Given the description of an element on the screen output the (x, y) to click on. 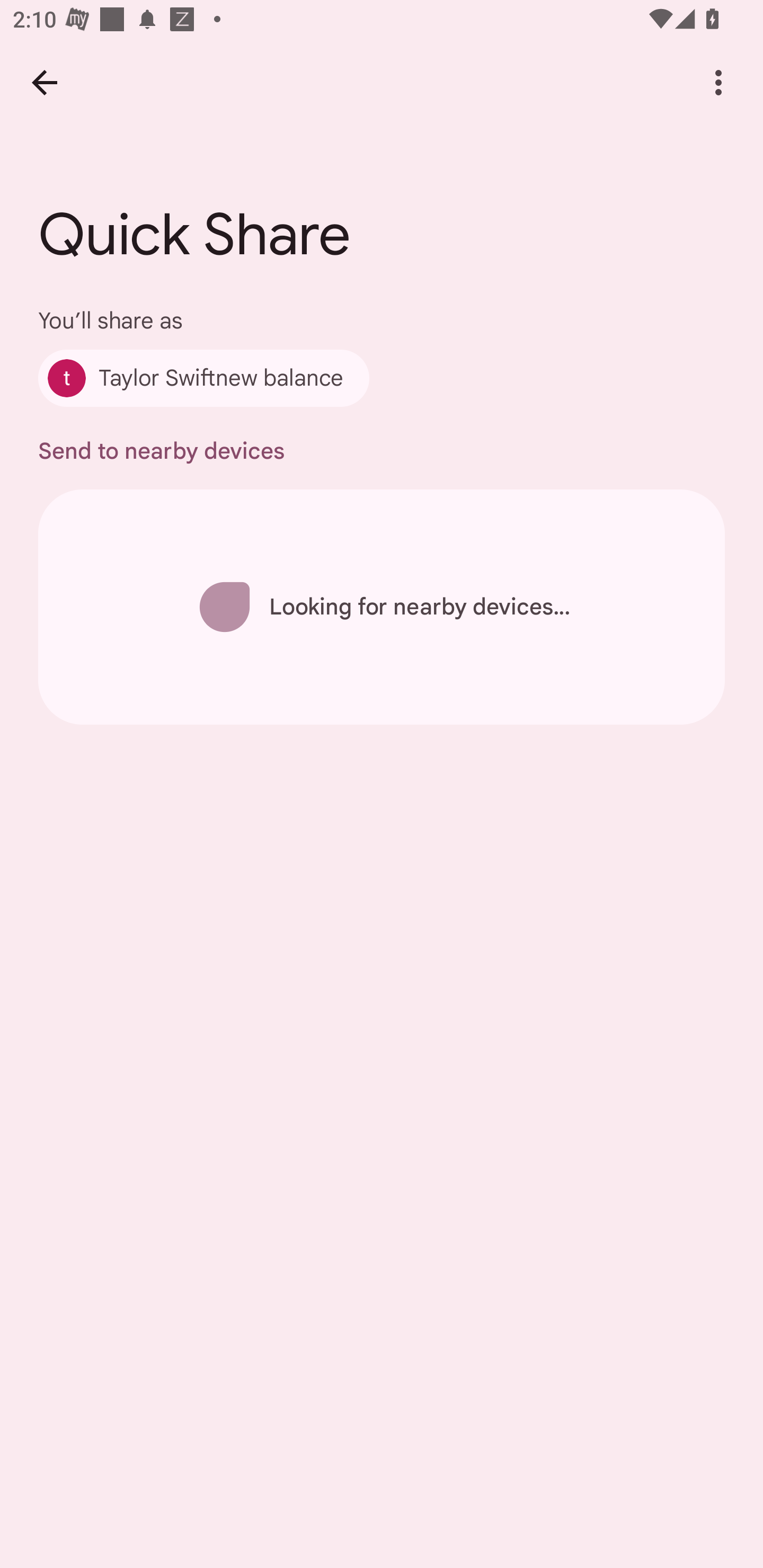
Back (44, 81)
More (718, 81)
Taylor Swiftnew balance (203, 378)
